Given the description of an element on the screen output the (x, y) to click on. 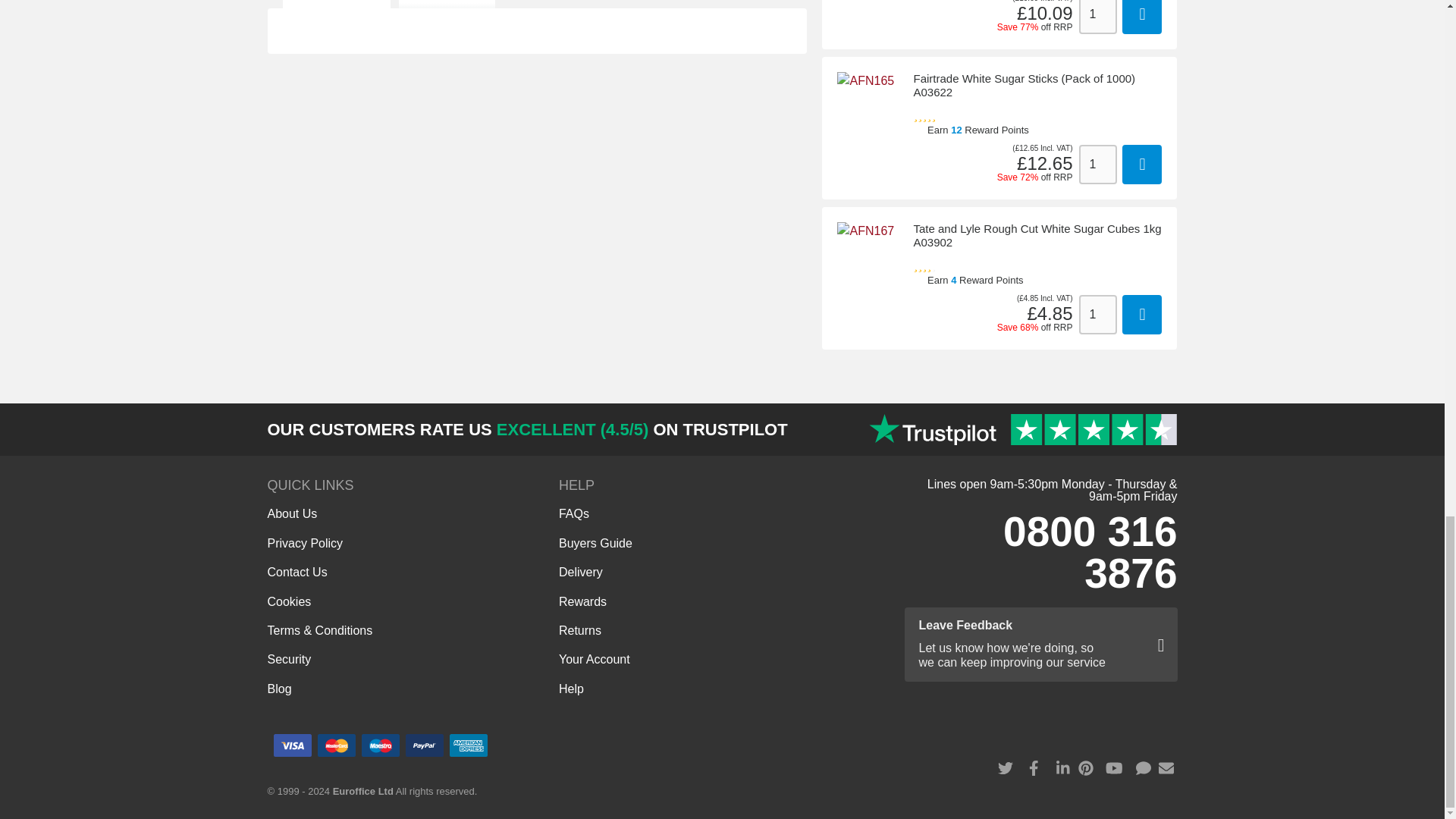
1 (1097, 17)
1 (1097, 314)
1 (1097, 164)
